Given the description of an element on the screen output the (x, y) to click on. 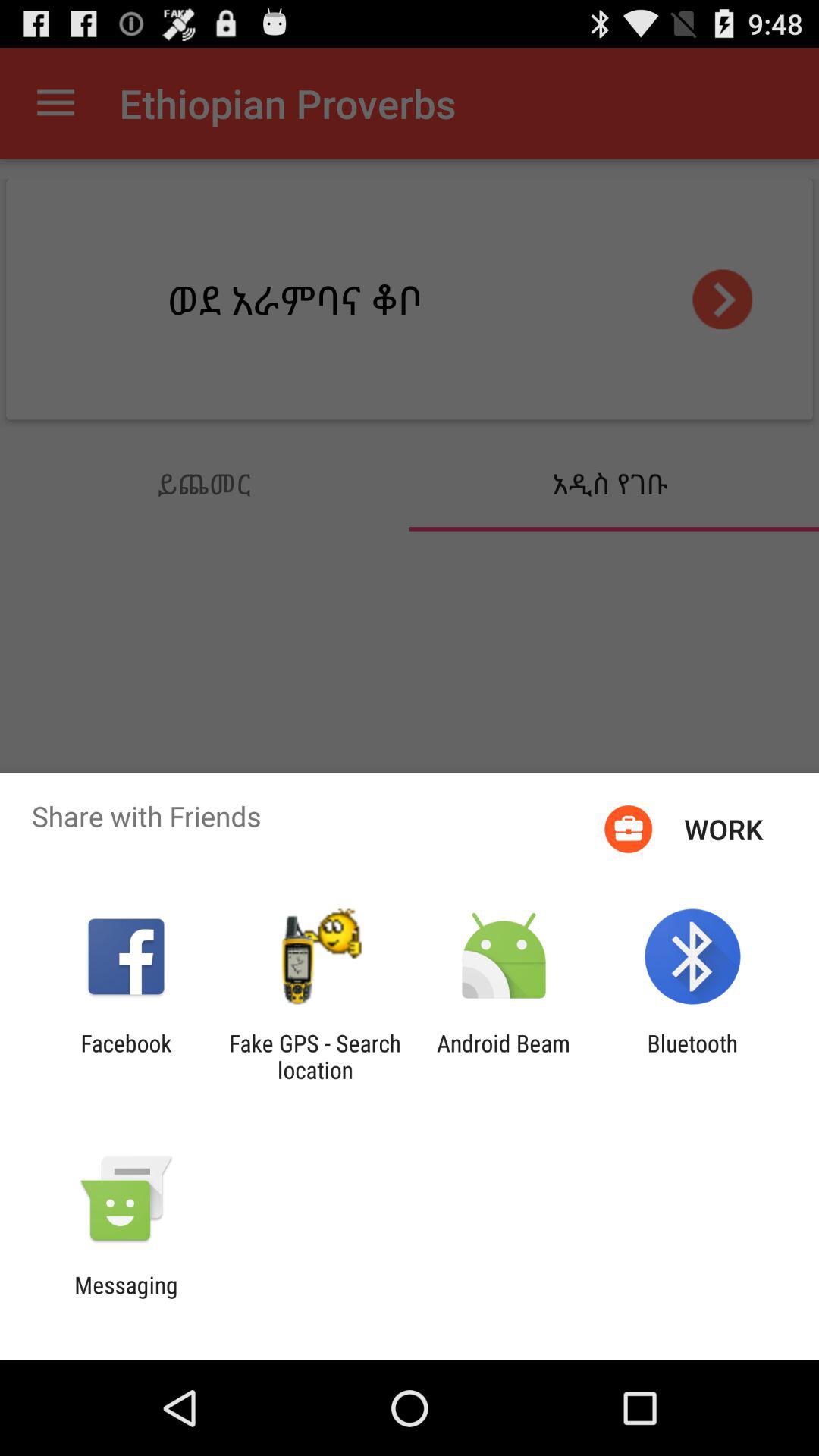
scroll to the facebook item (125, 1056)
